Given the description of an element on the screen output the (x, y) to click on. 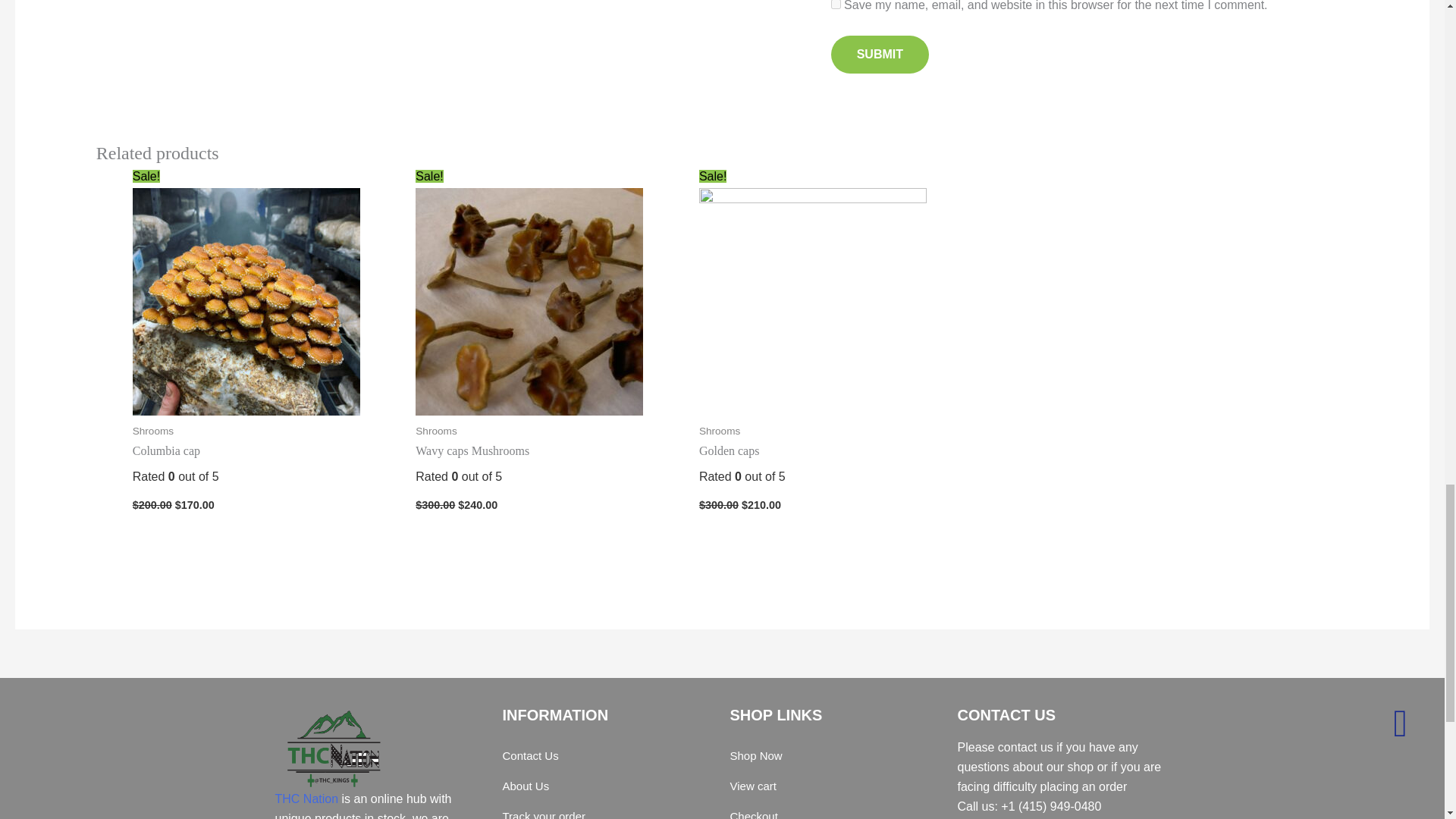
Submit (879, 54)
yes (836, 4)
